Given the description of an element on the screen output the (x, y) to click on. 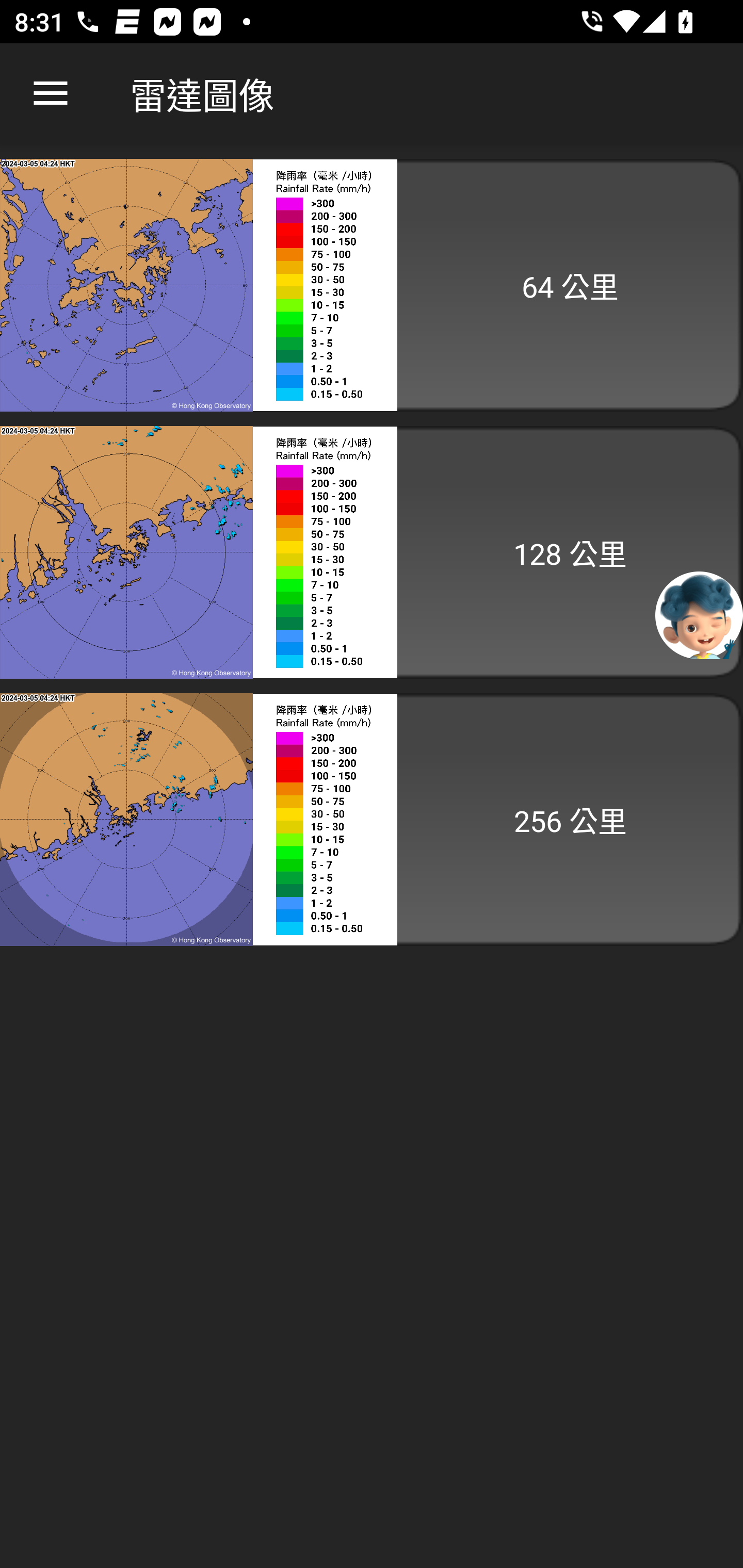
向上瀏覽 (50, 93)
64 公里 (371, 284)
128 公里 (371, 552)
聊天機械人 (699, 614)
256 公里 (371, 819)
